Given the description of an element on the screen output the (x, y) to click on. 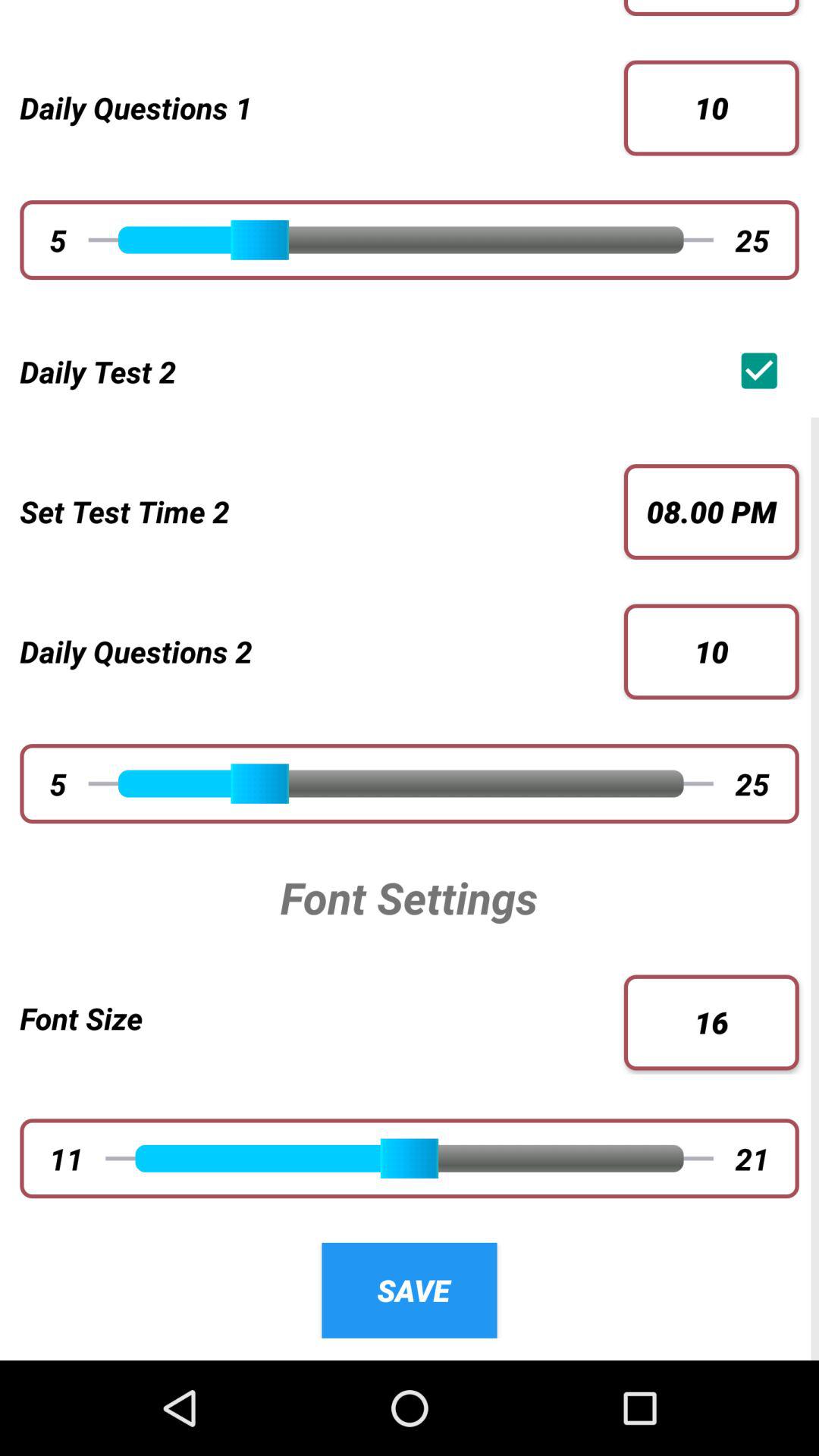
turn on icon above the  08.00 pm  button (763, 370)
